Given the description of an element on the screen output the (x, y) to click on. 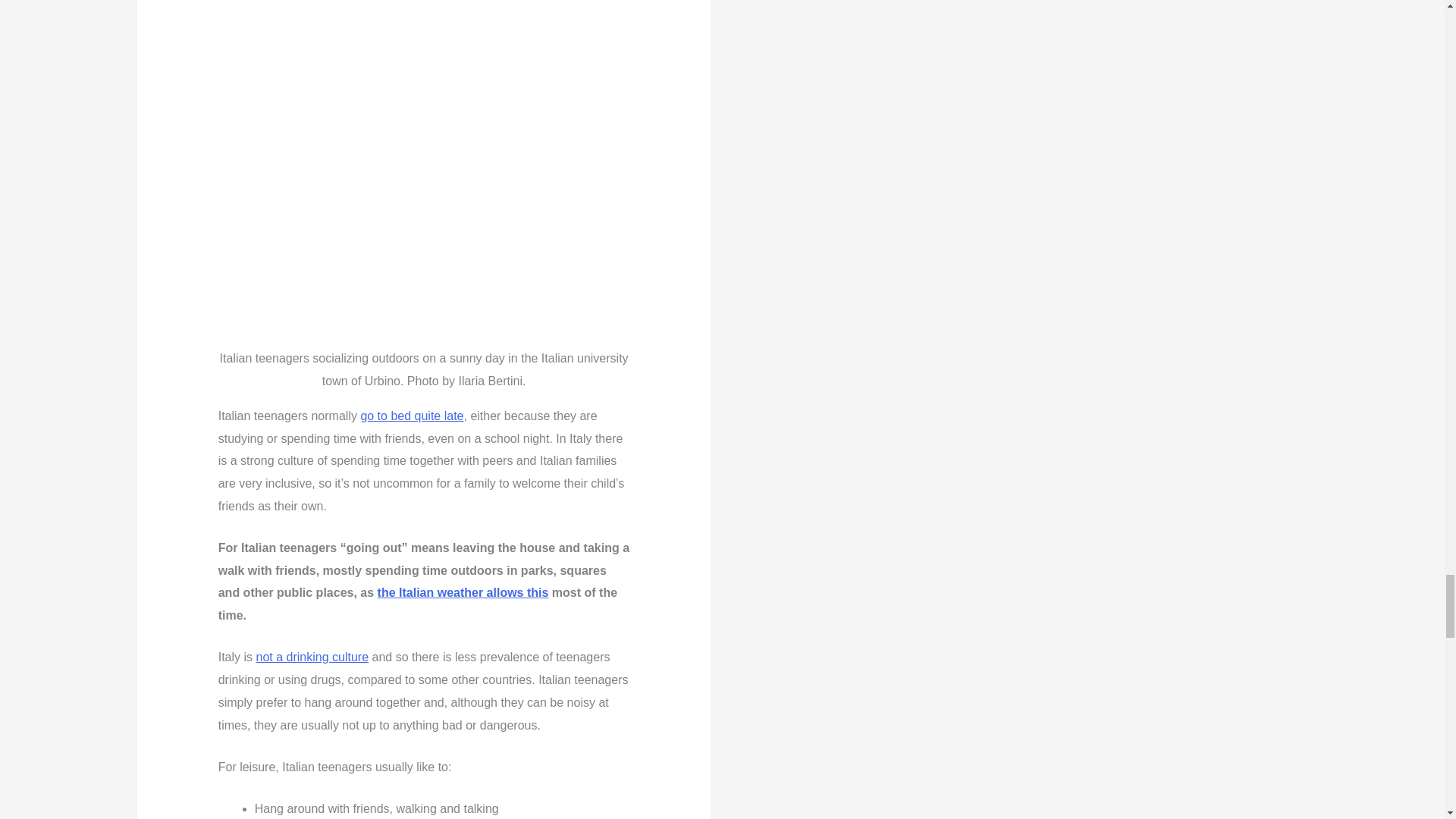
not a drinking culture (312, 656)
go to bed quite late (411, 415)
the Italian weather allows this (462, 592)
